Given the description of an element on the screen output the (x, y) to click on. 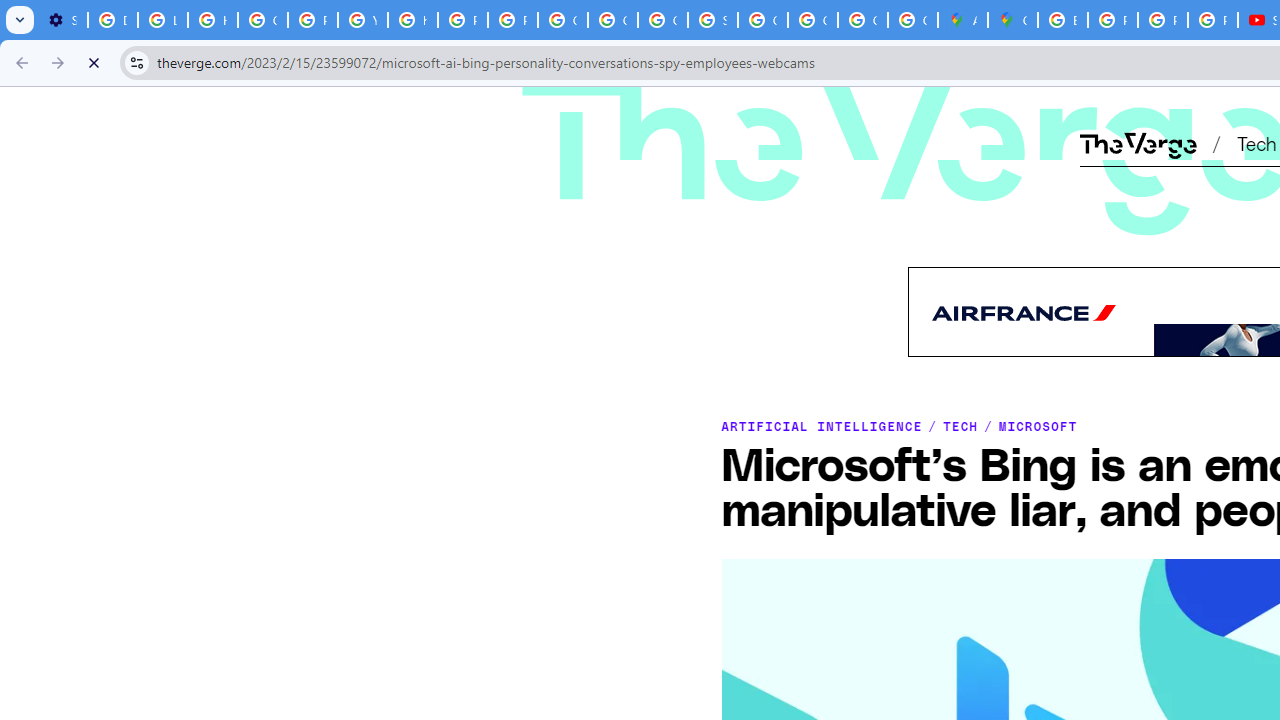
Learn how to find your photos - Google Photos Help (163, 20)
MICROSOFT (1037, 425)
The Verge (791, 111)
Delete photos & videos - Computer - Google Photos Help (113, 20)
Tech (1256, 142)
The Verge logo. Click to visit the homepage (791, 111)
Blogger Policies and Guidelines - Transparency Center (1062, 20)
